Given the description of an element on the screen output the (x, y) to click on. 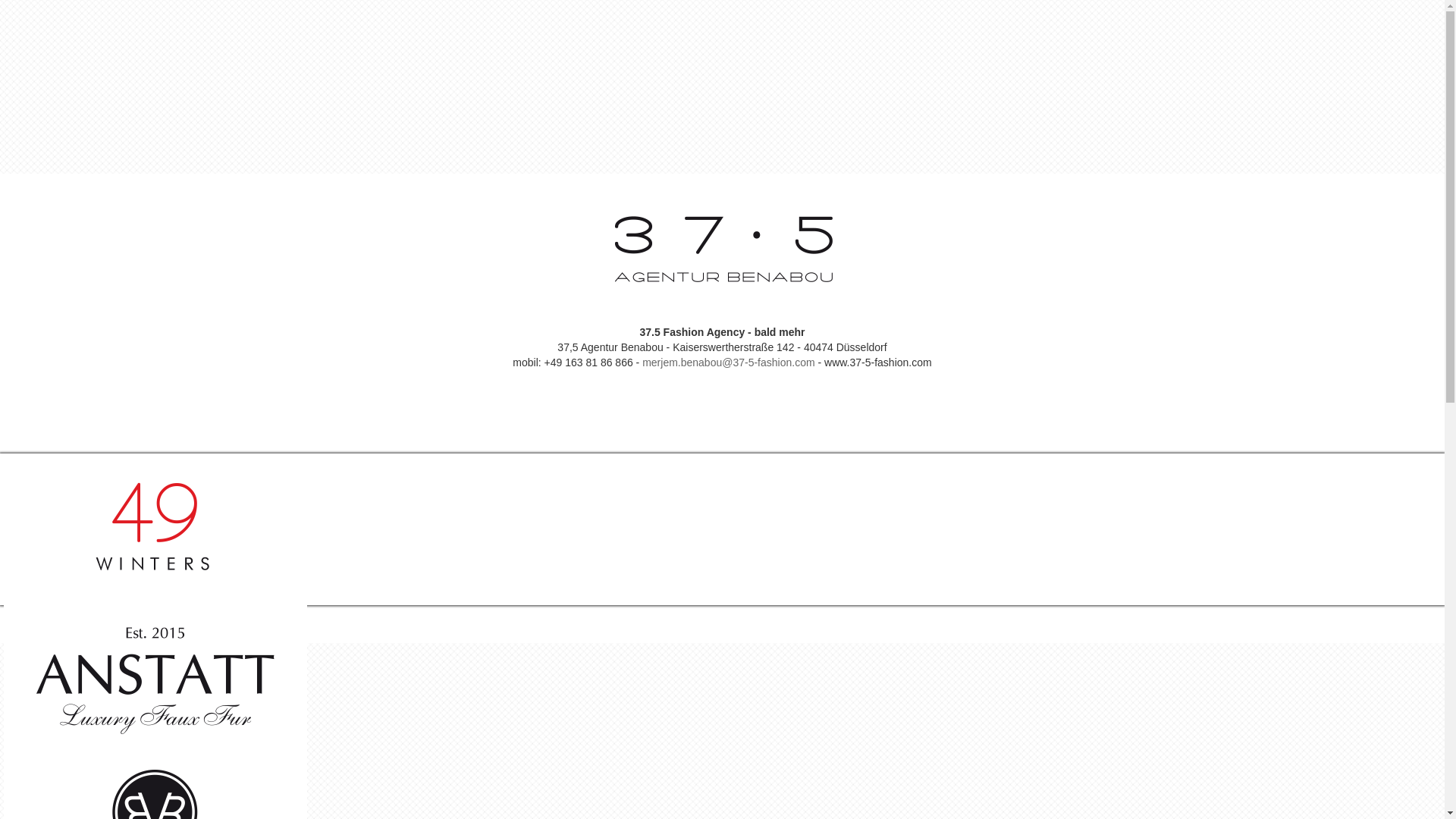
merjem.benabou@37-5-fashion.com Element type: text (728, 362)
